Given the description of an element on the screen output the (x, y) to click on. 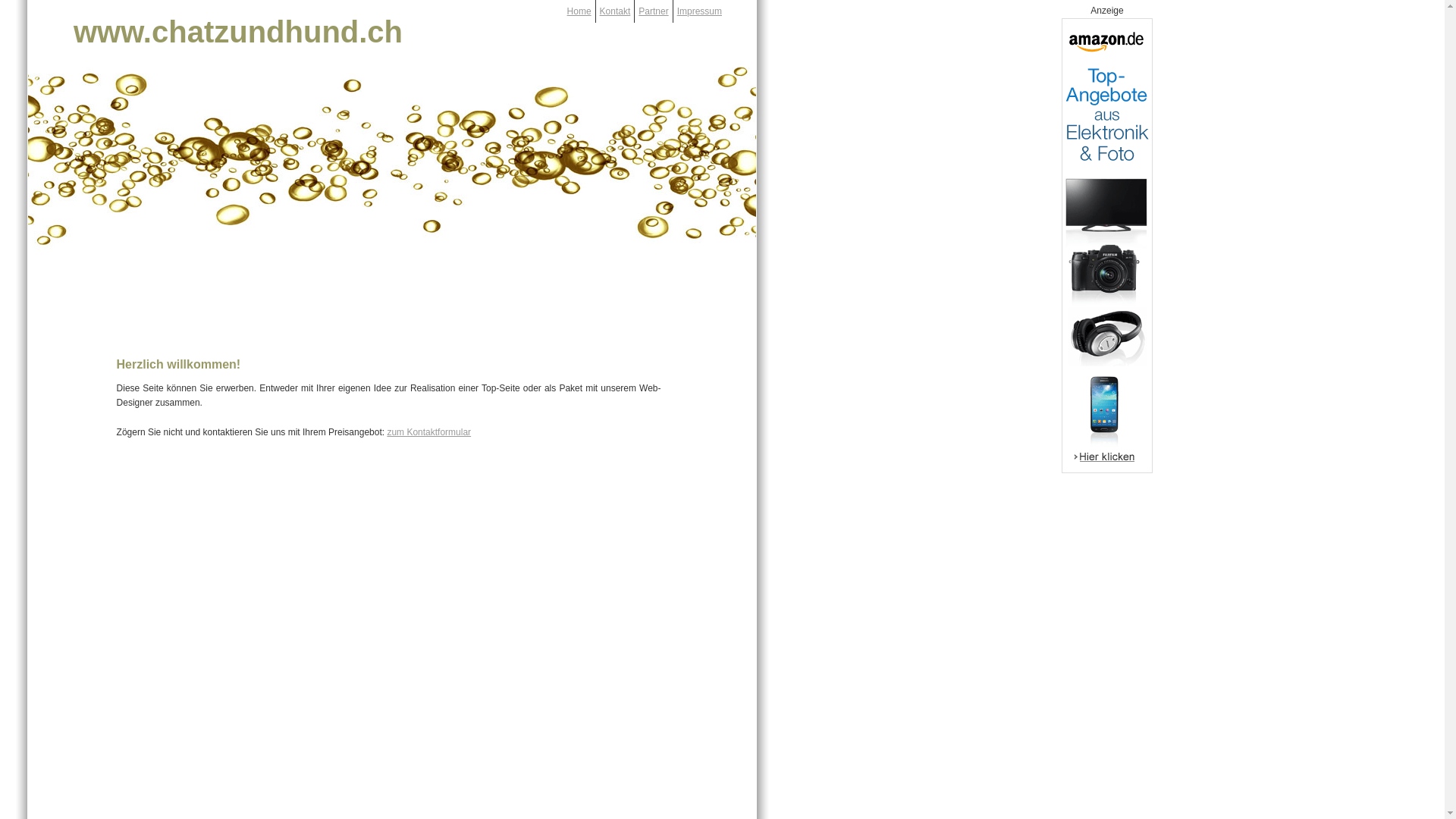
Impressum Element type: text (699, 11)
Kontakt Element type: text (614, 11)
zum Kontaktformular Element type: text (428, 431)
Partner Element type: text (653, 11)
Advertisement Element type: hover (392, 300)
Home Element type: text (579, 11)
